Given the description of an element on the screen output the (x, y) to click on. 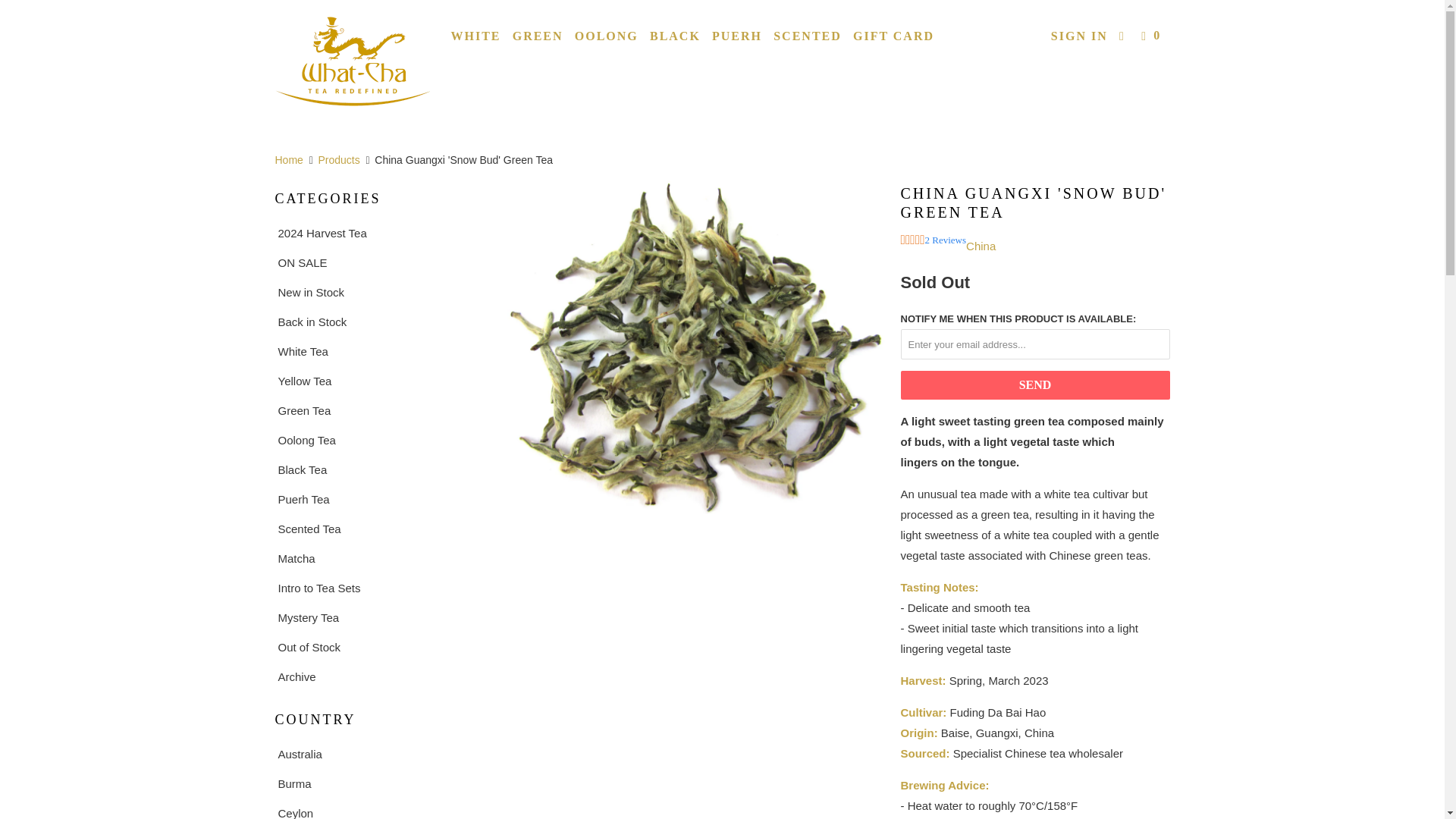
Home (288, 159)
GREEN (537, 35)
Mystery Tea (373, 617)
ON SALE (373, 262)
Oolong Tea (373, 439)
Back in Stock (373, 322)
Black Tea (373, 469)
Yellow Tea (373, 381)
Mystery Tea (373, 617)
Green Tea (373, 410)
2024 Harvest Tea (373, 232)
Intro to Tea Sets (373, 588)
SIGN IN (1079, 35)
New in Stock (373, 291)
New in Stock (373, 291)
